Given the description of an element on the screen output the (x, y) to click on. 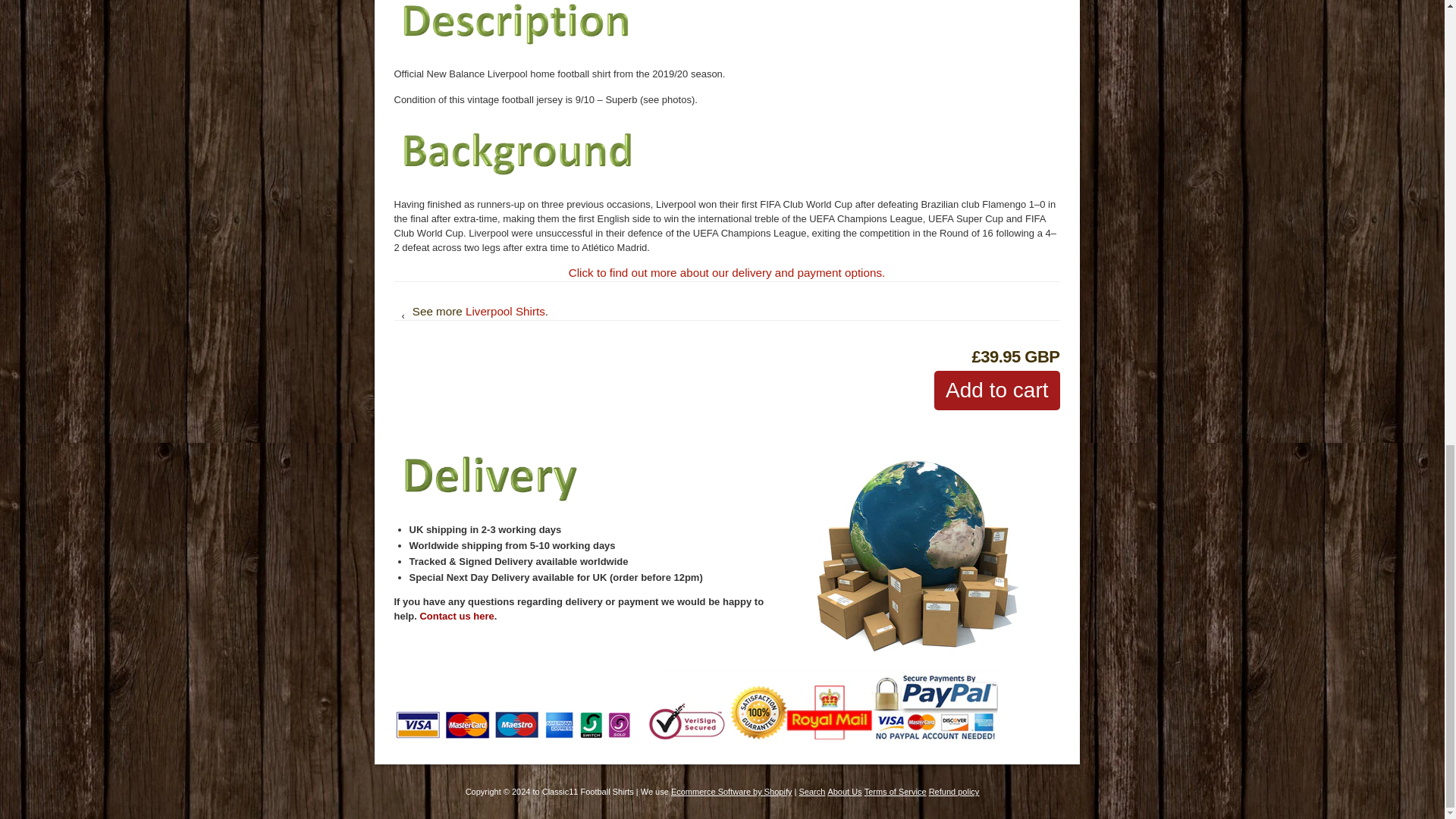
Liverpool Shirts (504, 310)
Add to cart (996, 390)
